Given the description of an element on the screen output the (x, y) to click on. 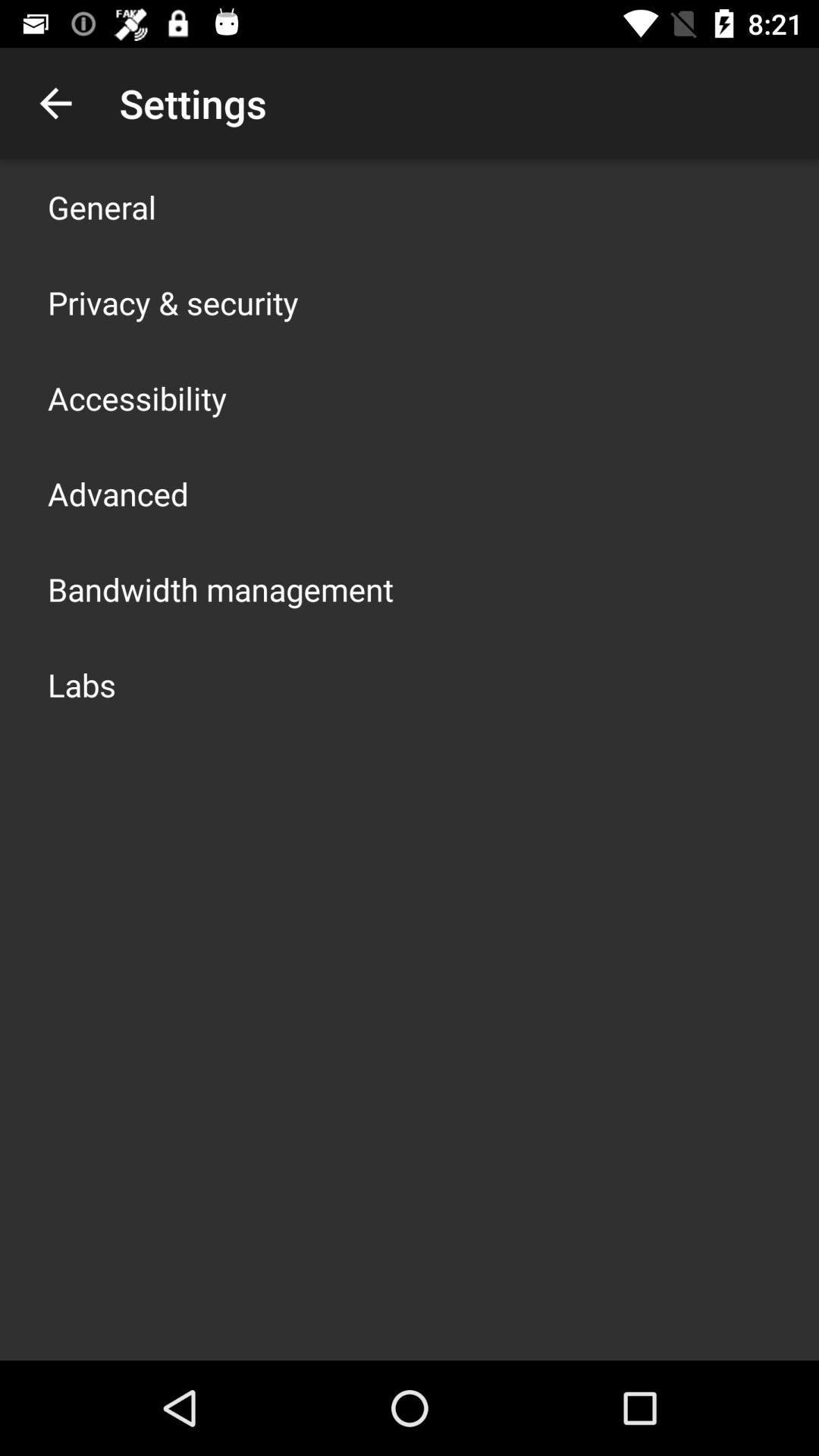
jump to the general icon (101, 206)
